Given the description of an element on the screen output the (x, y) to click on. 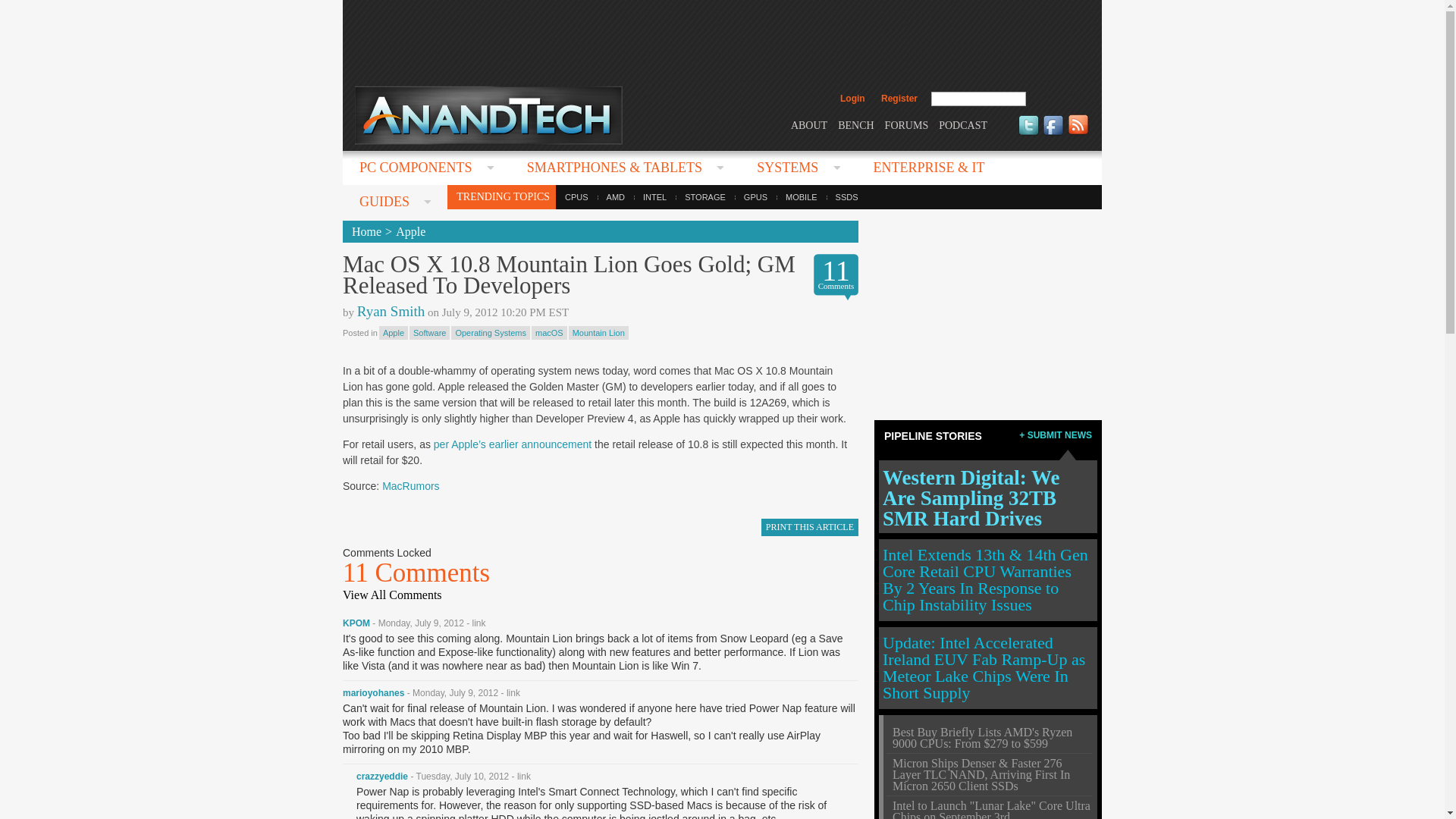
Login (852, 98)
search (1059, 98)
PODCAST (963, 125)
ABOUT (808, 125)
Register (898, 98)
search (1059, 98)
search (1059, 98)
BENCH (855, 125)
FORUMS (906, 125)
